Given the description of an element on the screen output the (x, y) to click on. 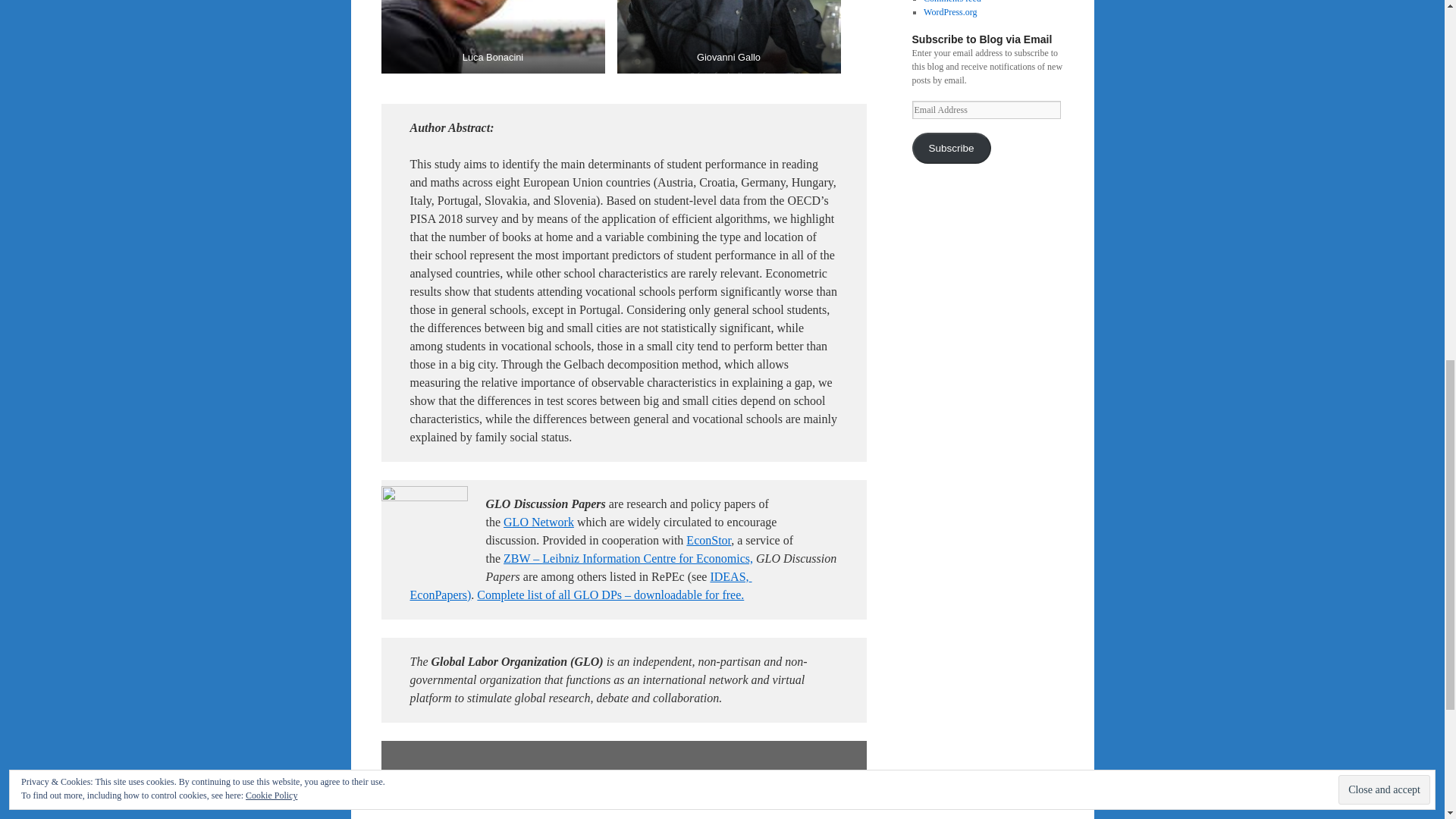
GLO Network (538, 521)
EconStor (707, 540)
IDEAS, (729, 576)
